Given the description of an element on the screen output the (x, y) to click on. 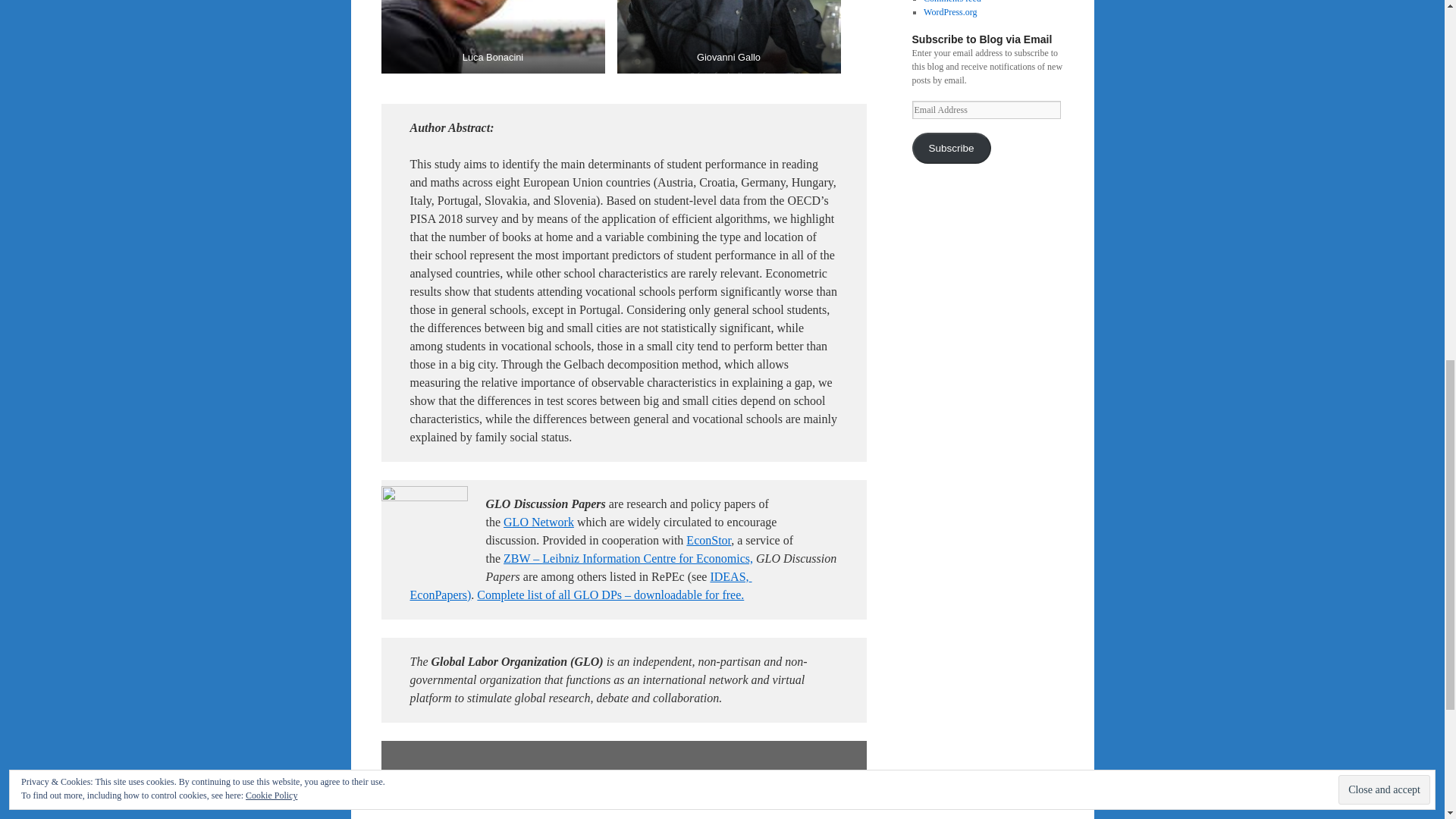
GLO Network (538, 521)
EconStor (707, 540)
IDEAS, (729, 576)
